Given the description of an element on the screen output the (x, y) to click on. 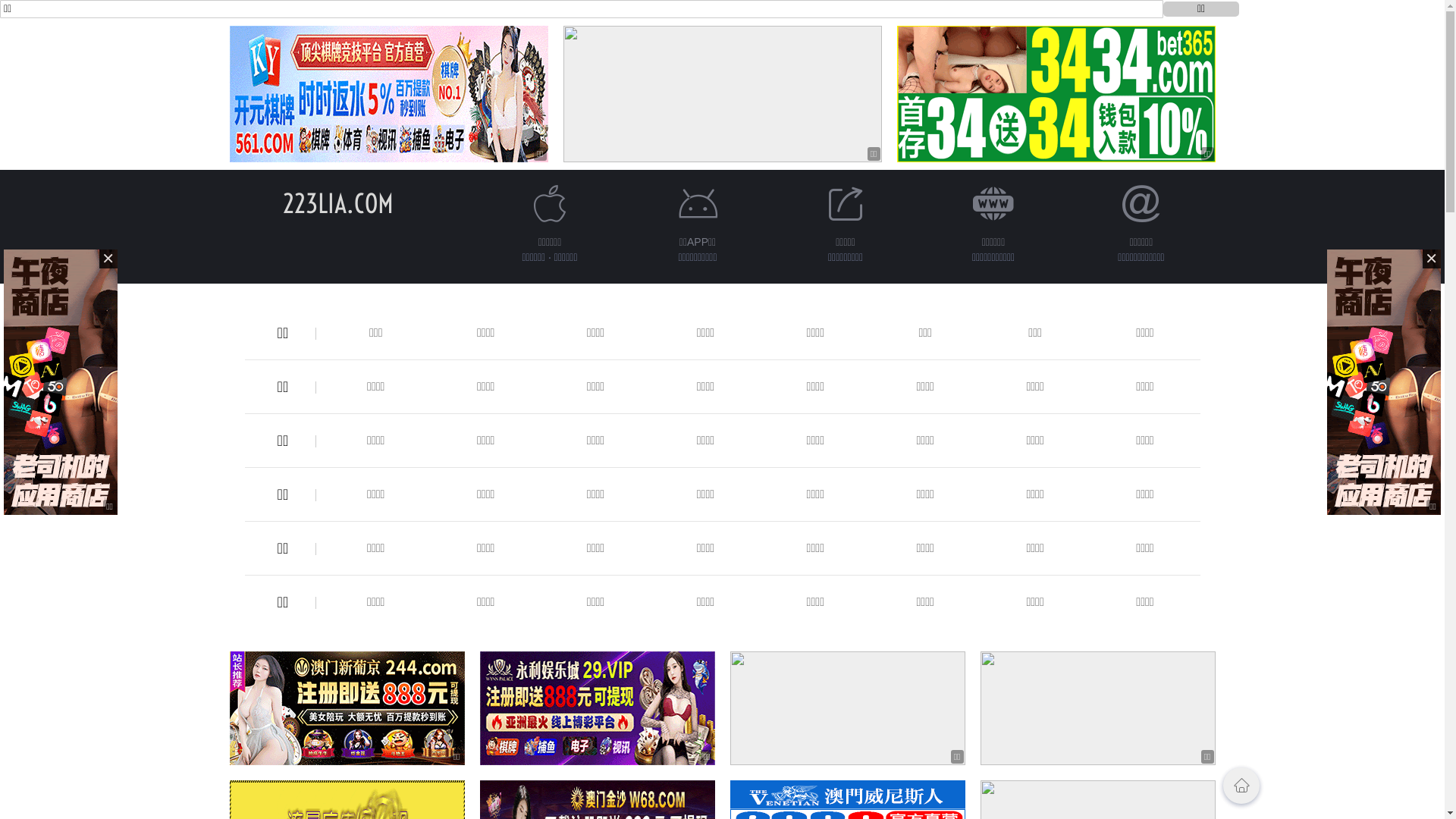
223LIA.COM Element type: text (337, 203)
